Given the description of an element on the screen output the (x, y) to click on. 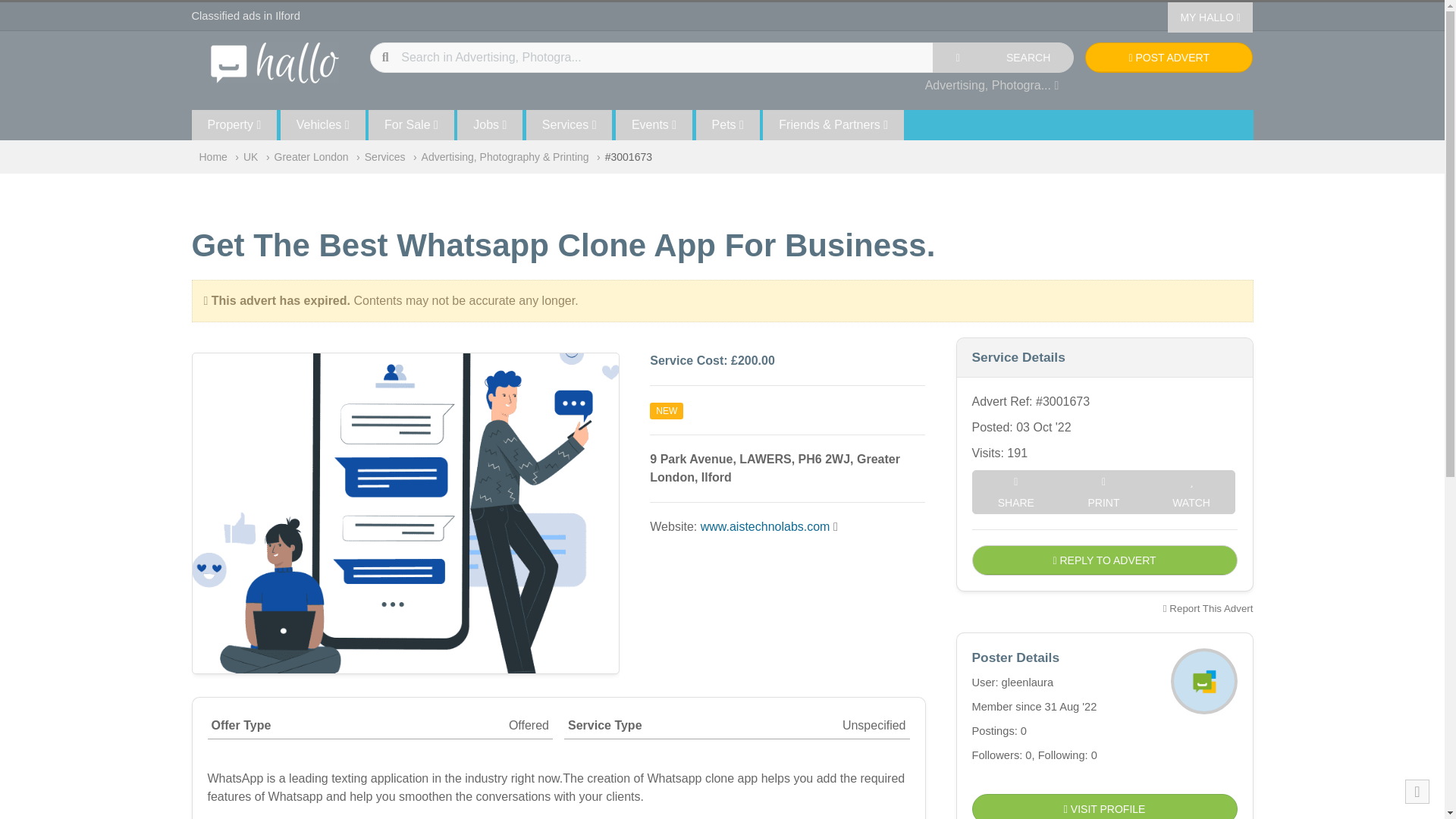
Property (233, 124)
Hallo Free Classified Ads (275, 61)
POST ADVERT (1168, 57)
SEARCH (1028, 57)
Advertising, Photogra... (992, 85)
MY HALLO (1209, 17)
